Given the description of an element on the screen output the (x, y) to click on. 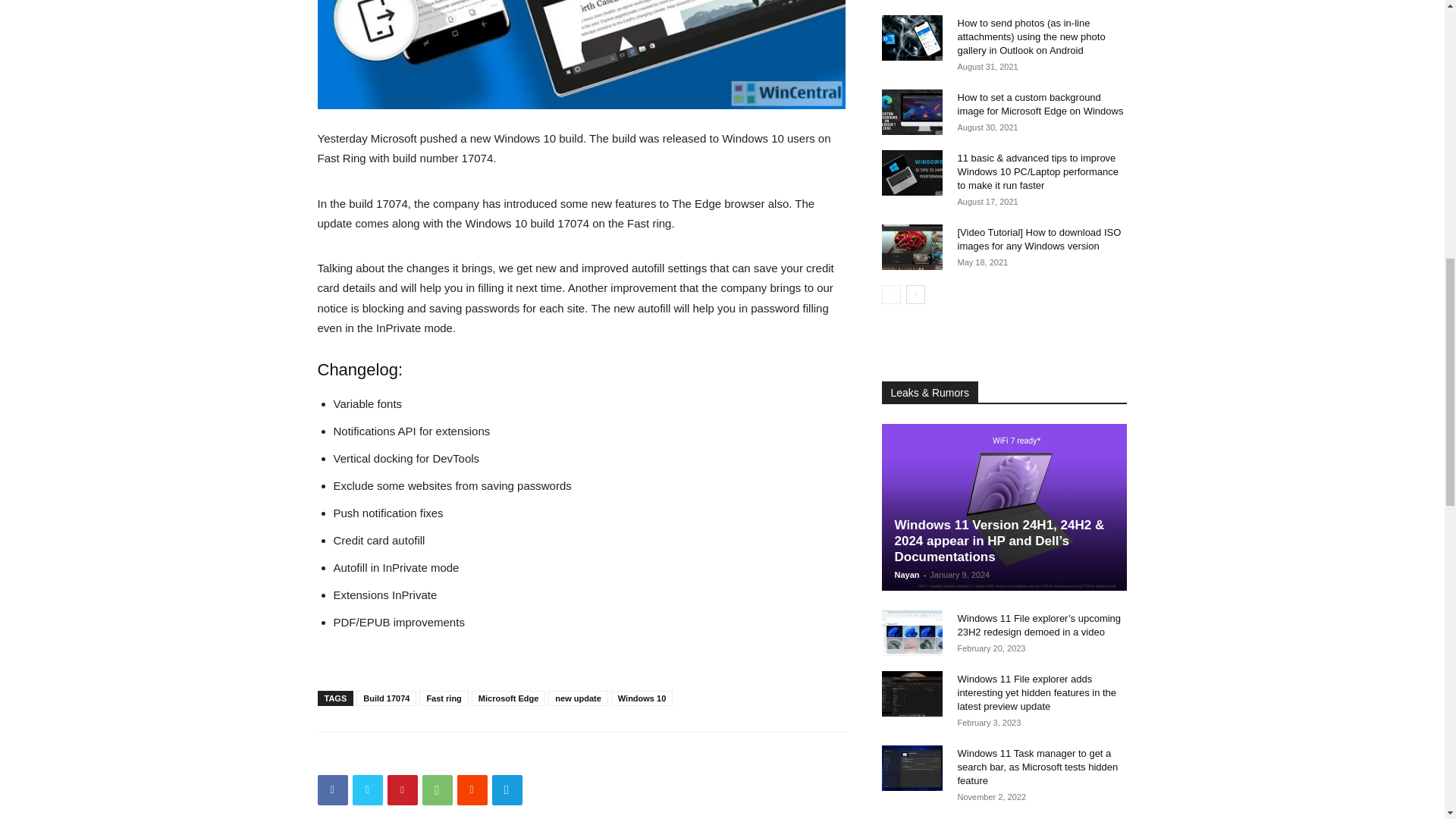
Twitter (366, 789)
Build 17074 (386, 698)
Microsoft Edge for Android (580, 54)
Pinterest (401, 789)
Facebook (332, 789)
bottomFacebookLike (430, 756)
